Given the description of an element on the screen output the (x, y) to click on. 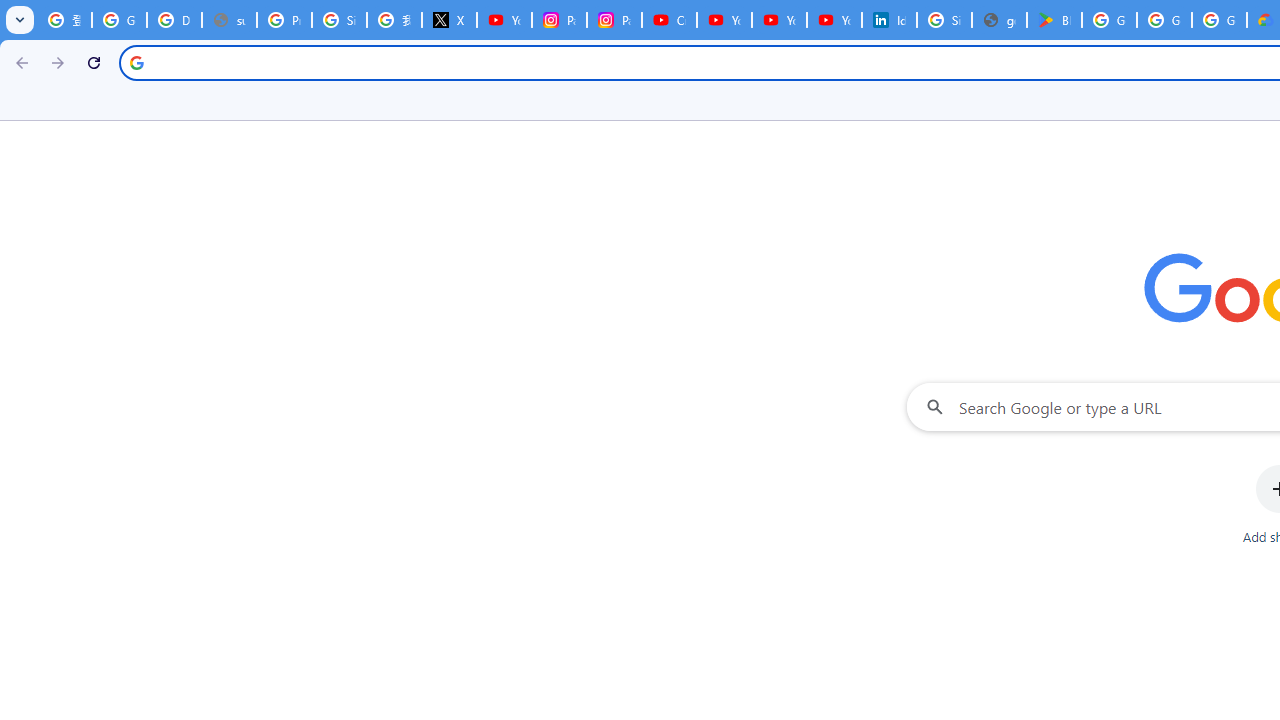
support.google.com - Network error (229, 20)
Bluey: Let's Play! - Apps on Google Play (1053, 20)
Sign in - Google Accounts (339, 20)
